Given the description of an element on the screen output the (x, y) to click on. 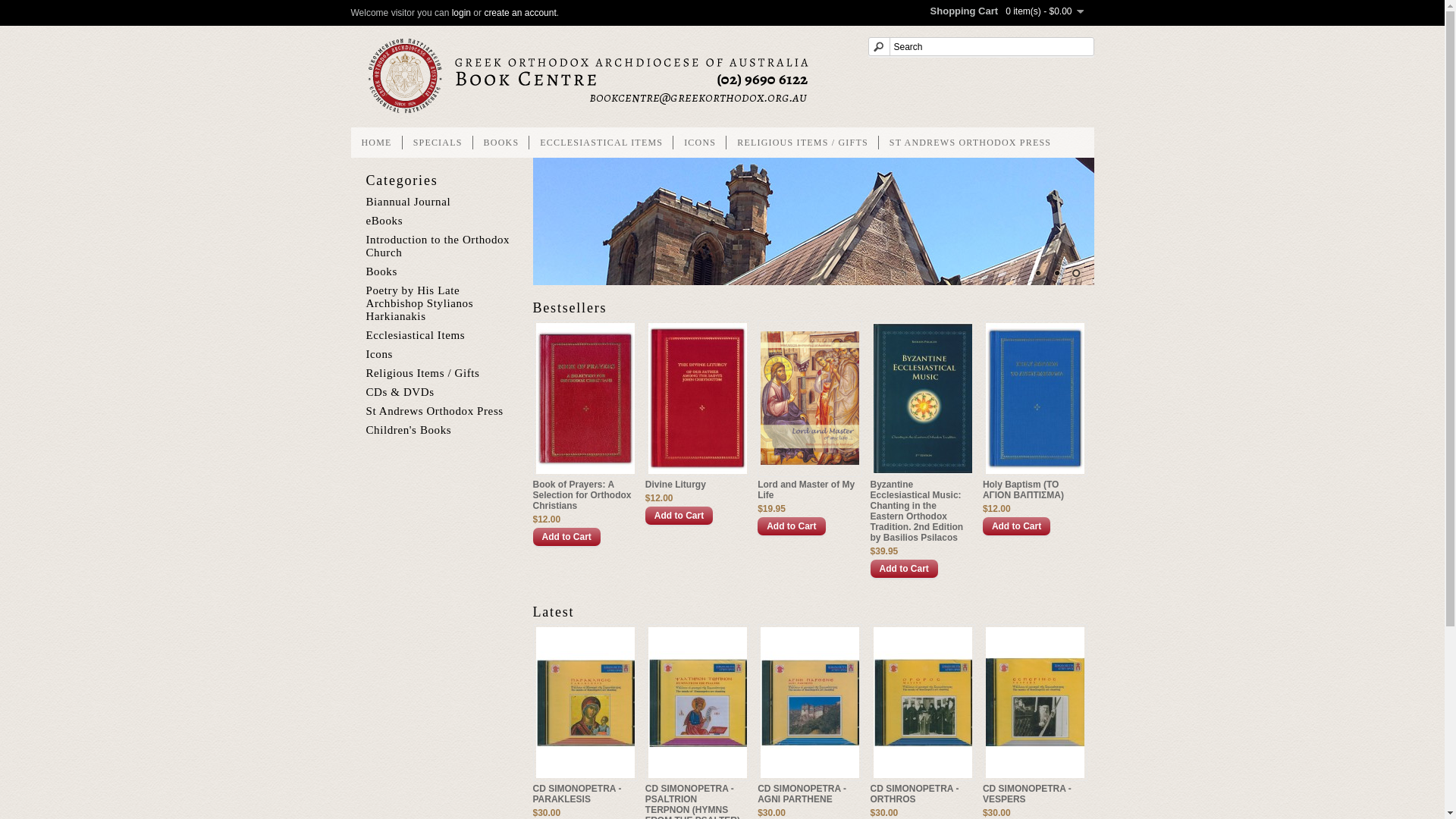
Add to Cart Element type: text (904, 568)
1 Element type: text (1037, 272)
Divine Liturgy Element type: text (694, 484)
2 Element type: text (1056, 272)
Add to Cart Element type: text (1016, 526)
Add to Cart Element type: text (565, 536)
0 item(s) - $0.00 Element type: text (1043, 11)
SPECIALS Element type: text (437, 142)
ICONS Element type: text (699, 142)
Add to Cart Element type: text (791, 526)
create an account Element type: text (519, 12)
Biannual Journal Element type: text (407, 201)
ST ANDREWS ORTHODOX PRESS Element type: text (969, 142)
RELIGIOUS ITEMS / GIFTS Element type: text (802, 142)
Book of Prayers: A Selection for Orthodox Christians Element type: text (581, 495)
Books Element type: text (380, 271)
CD SIMONOPETRA - VESPERS Element type: text (1031, 793)
Icons Element type: text (378, 354)
HOME Element type: text (375, 142)
Add to Cart Element type: text (678, 515)
Religious Items / Gifts Element type: text (422, 373)
CD SIMONOPETRA - PARAKLESIS Element type: text (581, 793)
BOOKS Element type: text (501, 142)
eBooks Element type: text (383, 220)
Introduction to the Orthodox Church Element type: text (437, 245)
ECCLESIASTICAL ITEMS Element type: text (601, 142)
CD SIMONOPETRA - ORTHROS Element type: text (919, 793)
login Element type: text (460, 12)
CD SIMONOPETRA - AGNI PARTHENE Element type: text (806, 793)
Children's Books Element type: text (408, 429)
Lord and Master of My Life Element type: text (806, 489)
St Andrews Orthodox Press Element type: text (433, 410)
Ecclesiastical Items Element type: text (414, 335)
Poetry by His Late Archbishop Stylianos Harkianakis Element type: text (419, 303)
CDs & DVDs Element type: text (399, 391)
Search Element type: text (980, 46)
3 Element type: text (1075, 272)
